Given the description of an element on the screen output the (x, y) to click on. 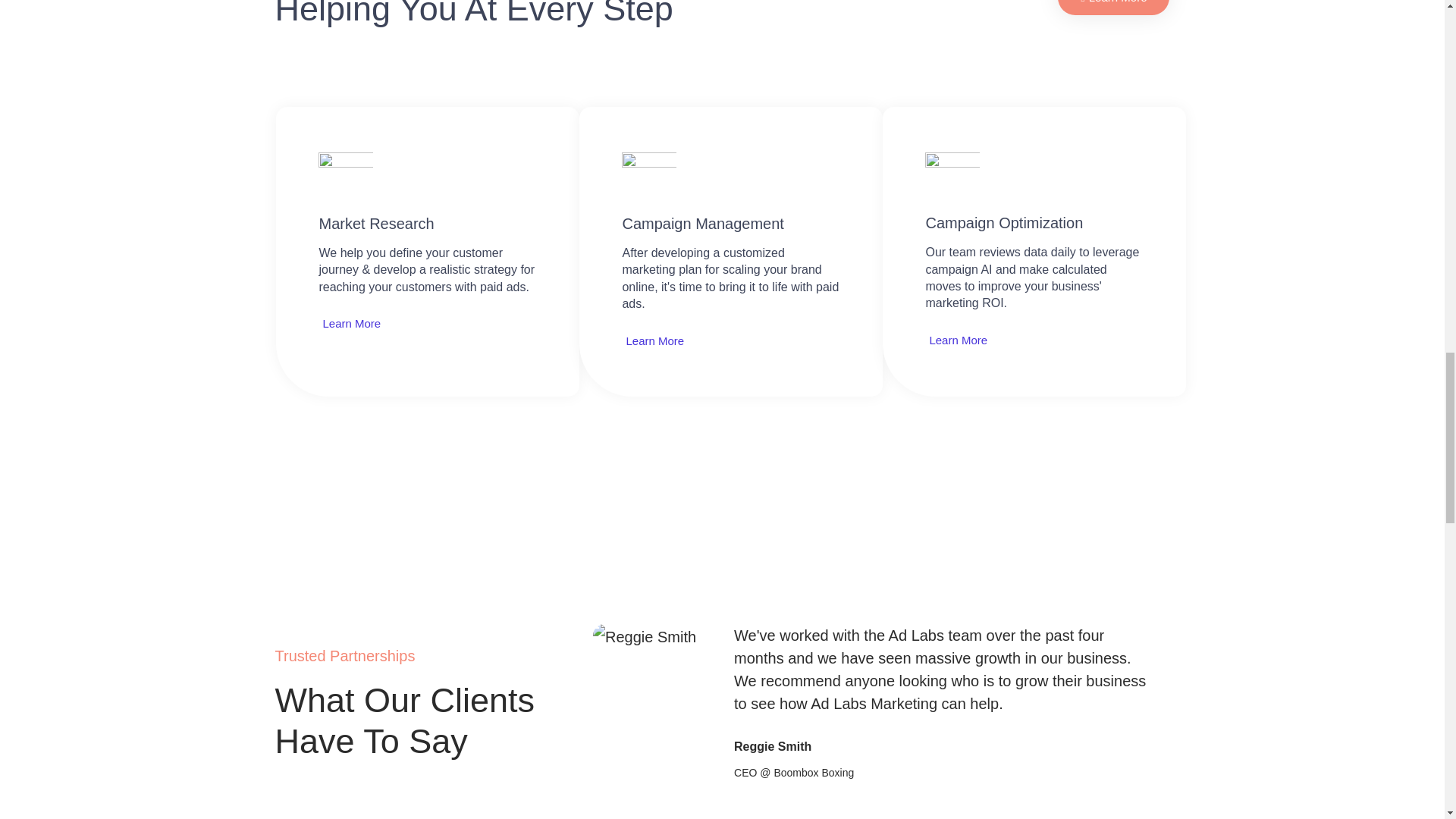
Learn More (652, 340)
Learn More (1113, 7)
Learn More (349, 323)
Learn More (955, 339)
